Given the description of an element on the screen output the (x, y) to click on. 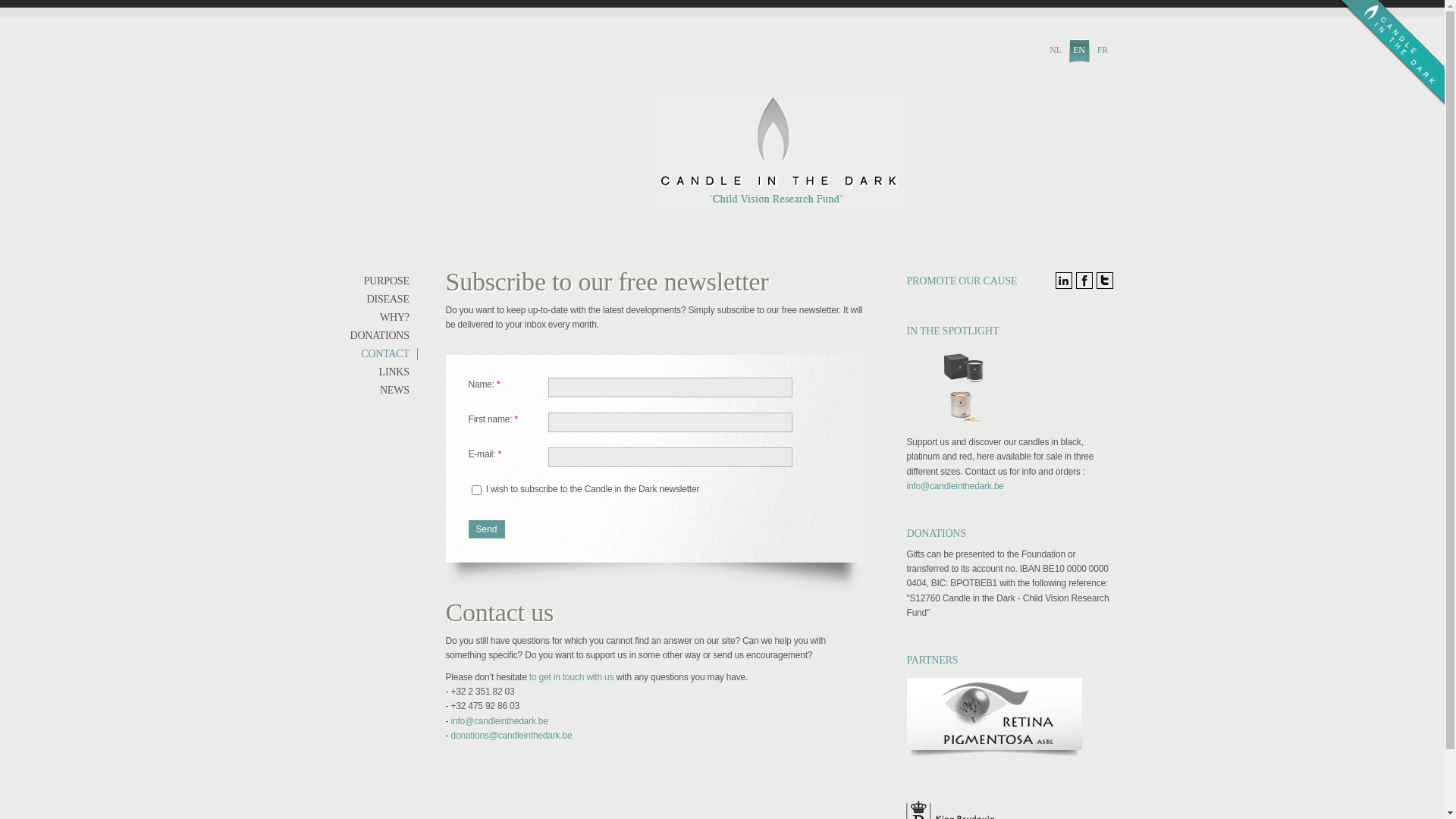
donations@candleinthedark.be Element type: text (510, 735)
to get in touch with us Element type: text (571, 676)
LINKS Element type: text (383, 372)
Twitter Element type: text (1104, 280)
Send Element type: text (486, 529)
NEWS Element type: text (383, 390)
PURPOSE Element type: text (383, 281)
info@candleinthedark.be Element type: text (498, 720)
FR Element type: text (1102, 51)
WHY? Element type: text (383, 317)
info@candleinthedark.be Element type: text (955, 485)
DONATIONS Element type: text (383, 335)
LinkedIn Element type: text (1063, 280)
DISEASE Element type: text (383, 299)
CONTACT Element type: text (383, 354)
EN Element type: text (1079, 51)
Facebook Element type: text (1083, 280)
NL Element type: text (1054, 51)
